Given the description of an element on the screen output the (x, y) to click on. 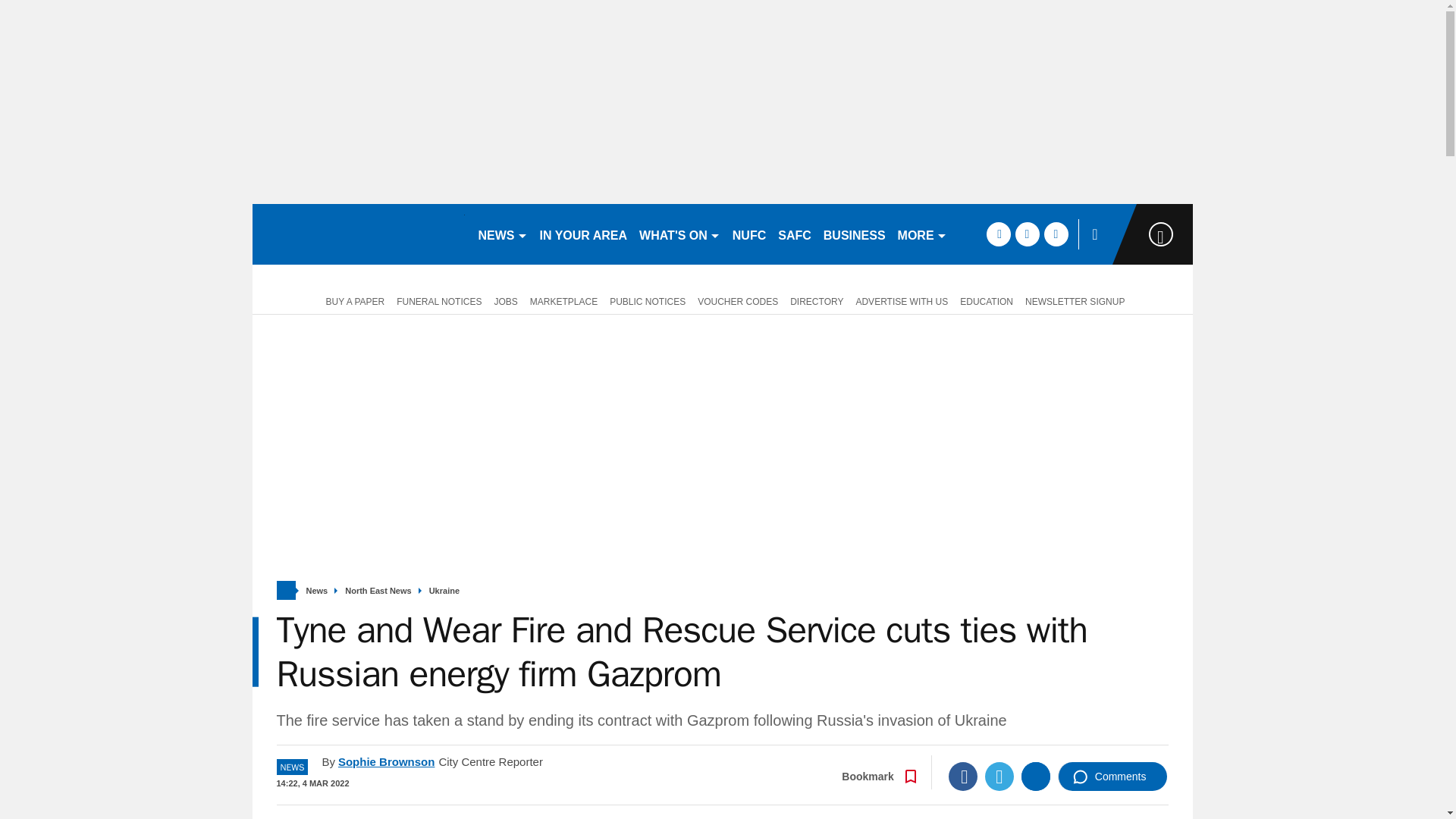
NEWS (501, 233)
nechronicle (357, 233)
IN YOUR AREA (583, 233)
BUSINESS (853, 233)
Facebook (962, 776)
instagram (1055, 233)
twitter (1026, 233)
Twitter (999, 776)
WHAT'S ON (679, 233)
Comments (1112, 776)
MORE (922, 233)
facebook (997, 233)
